Given the description of an element on the screen output the (x, y) to click on. 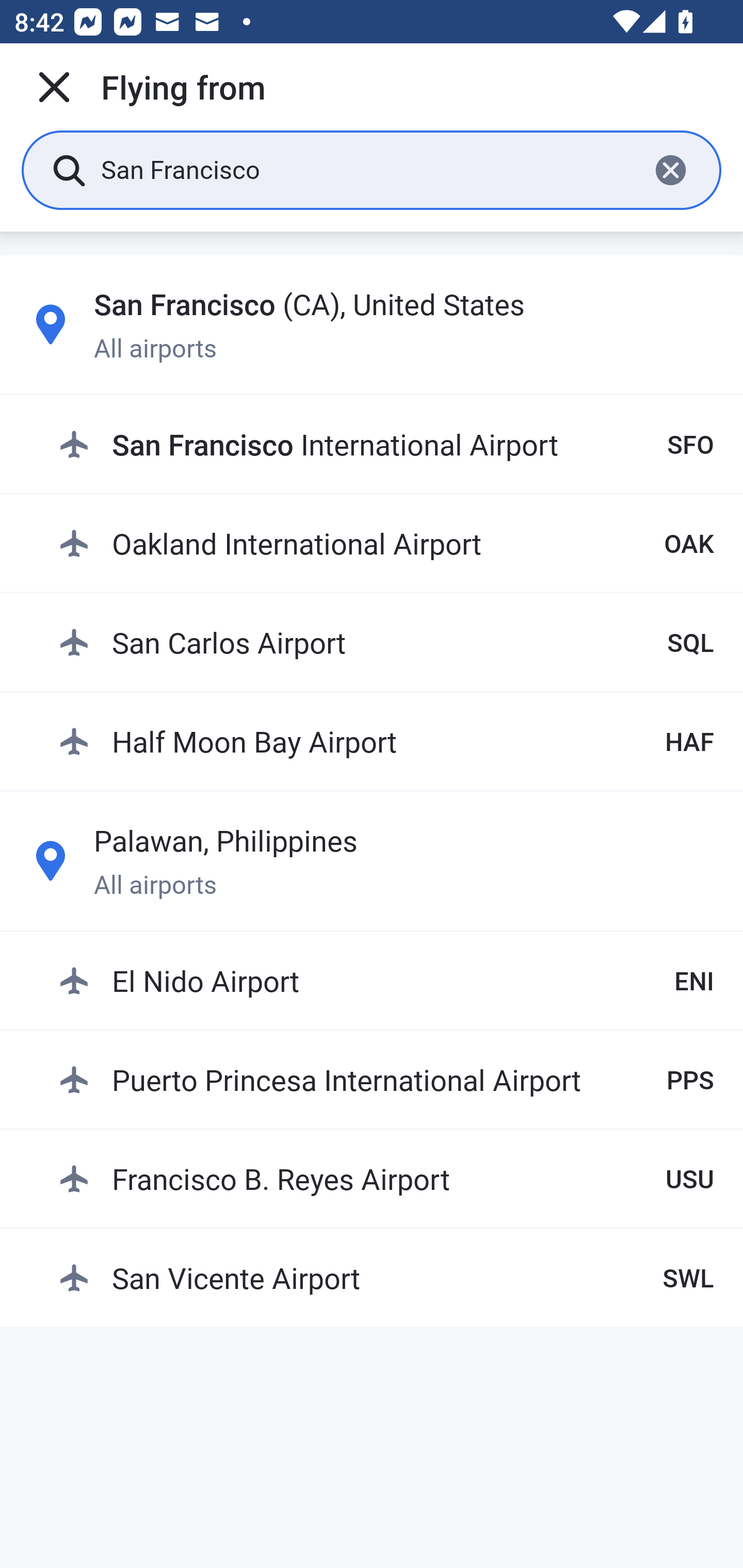
San Francisco (367, 169)
San Francisco (CA), United States All airports (371, 324)
San Francisco International Airport SFO (385, 444)
Oakland International Airport OAK (385, 543)
San Carlos Airport SQL (385, 641)
Half Moon Bay Airport HAF (385, 740)
Palawan, Philippines All airports (371, 860)
El Nido Airport ENI (385, 980)
Puerto Princesa International Airport PPS (385, 1079)
Francisco B. Reyes Airport USU (385, 1178)
San Vicente Airport SWL (385, 1277)
